Given the description of an element on the screen output the (x, y) to click on. 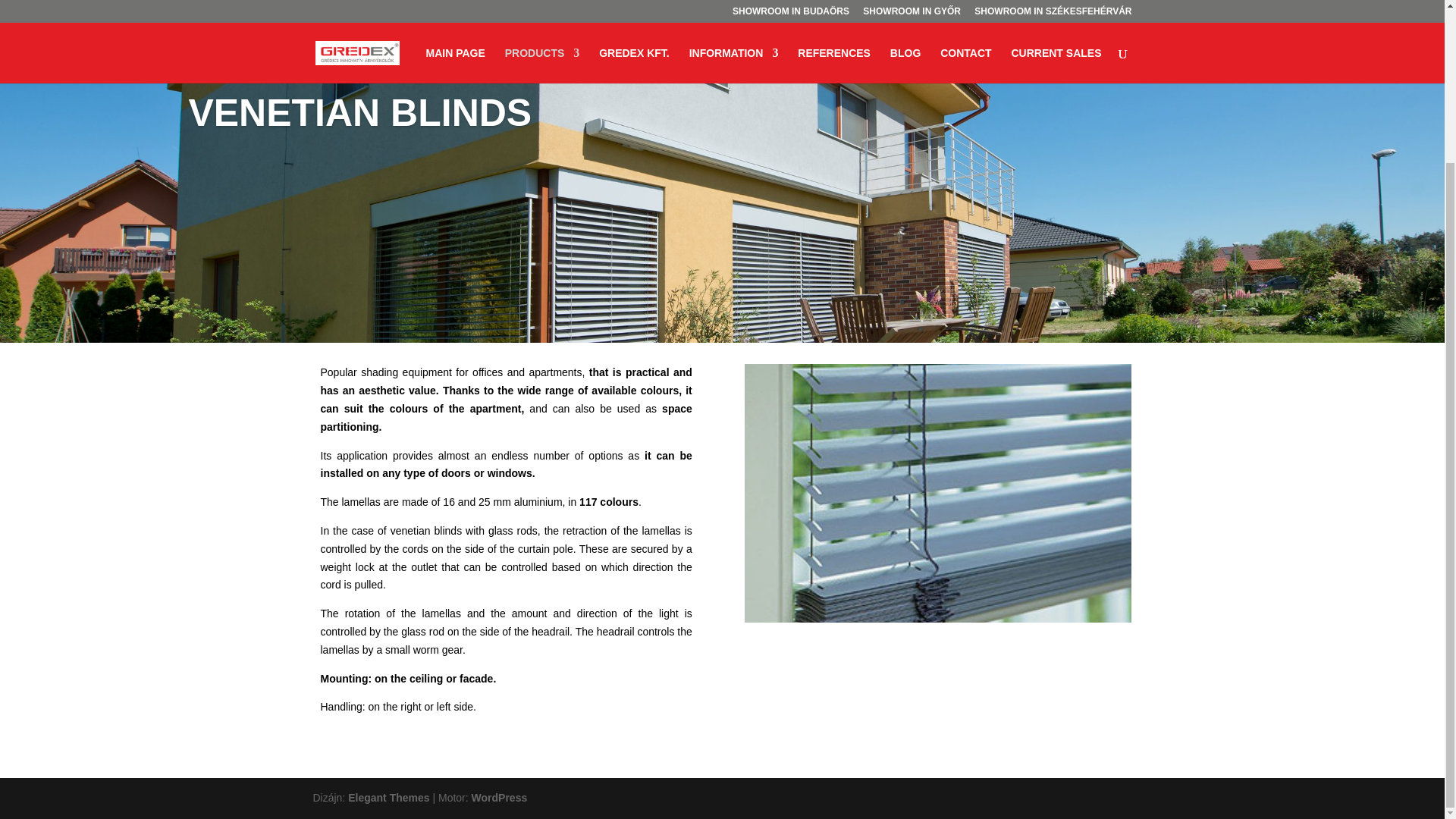
Premium WordPress Themes (388, 797)
